Given the description of an element on the screen output the (x, y) to click on. 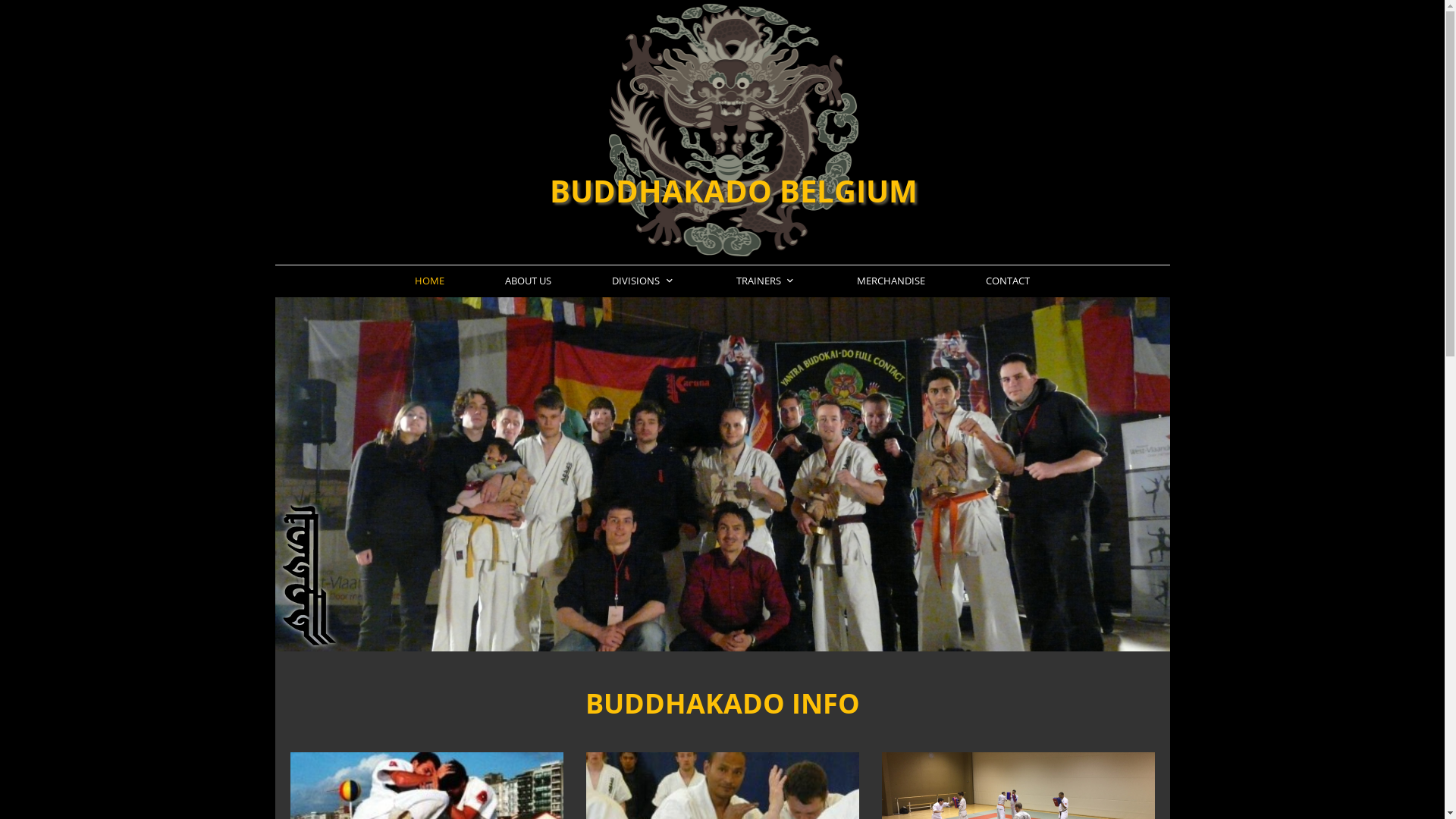
CONTACT Element type: text (1007, 281)
HOME Element type: text (429, 281)
DIVISIONS Element type: text (643, 281)
ABOUT US Element type: text (527, 281)
MERCHANDISE Element type: text (890, 281)
TRAINERS Element type: text (765, 281)
